Given the description of an element on the screen output the (x, y) to click on. 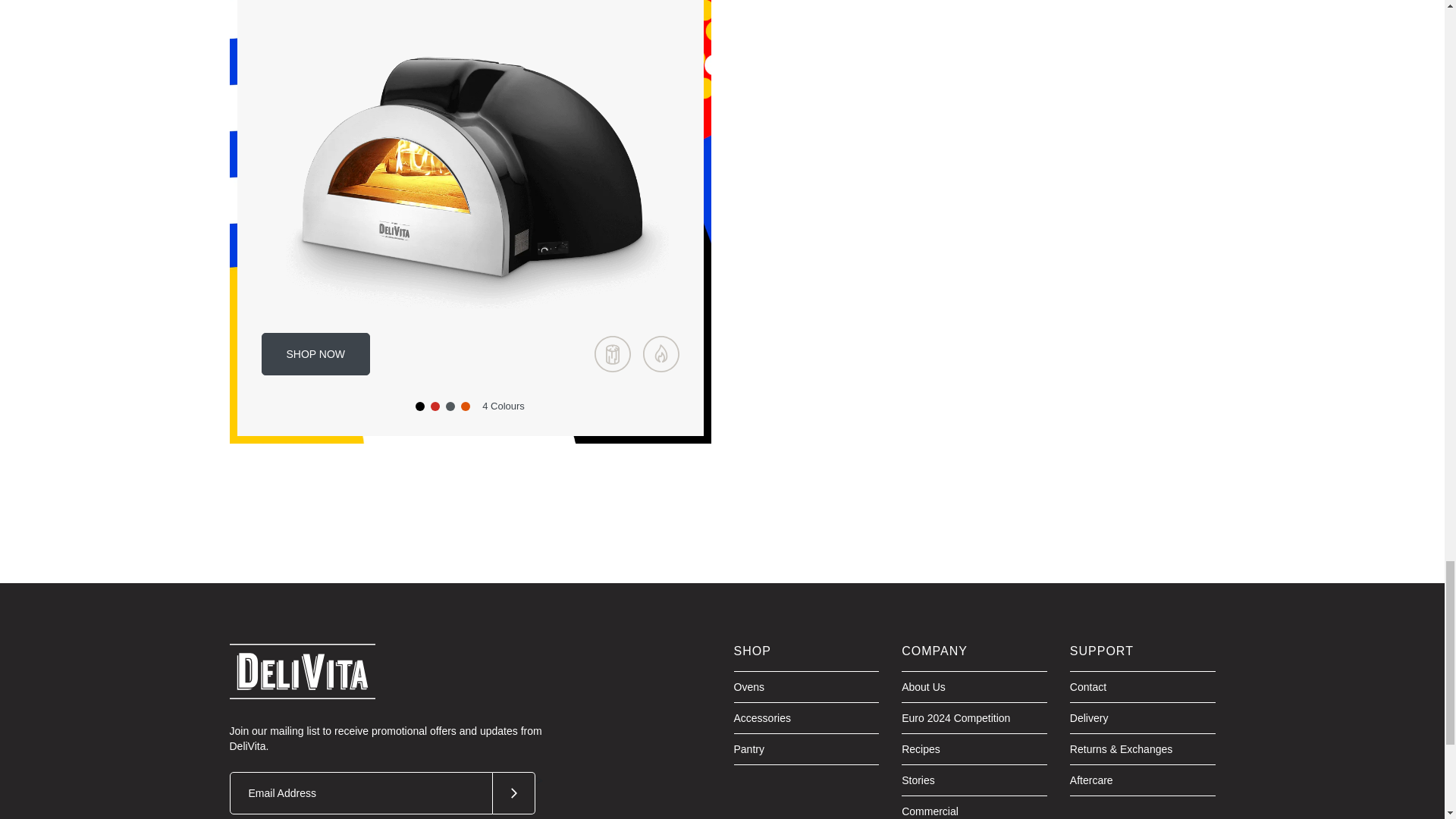
Subscribe (514, 793)
